Given the description of an element on the screen output the (x, y) to click on. 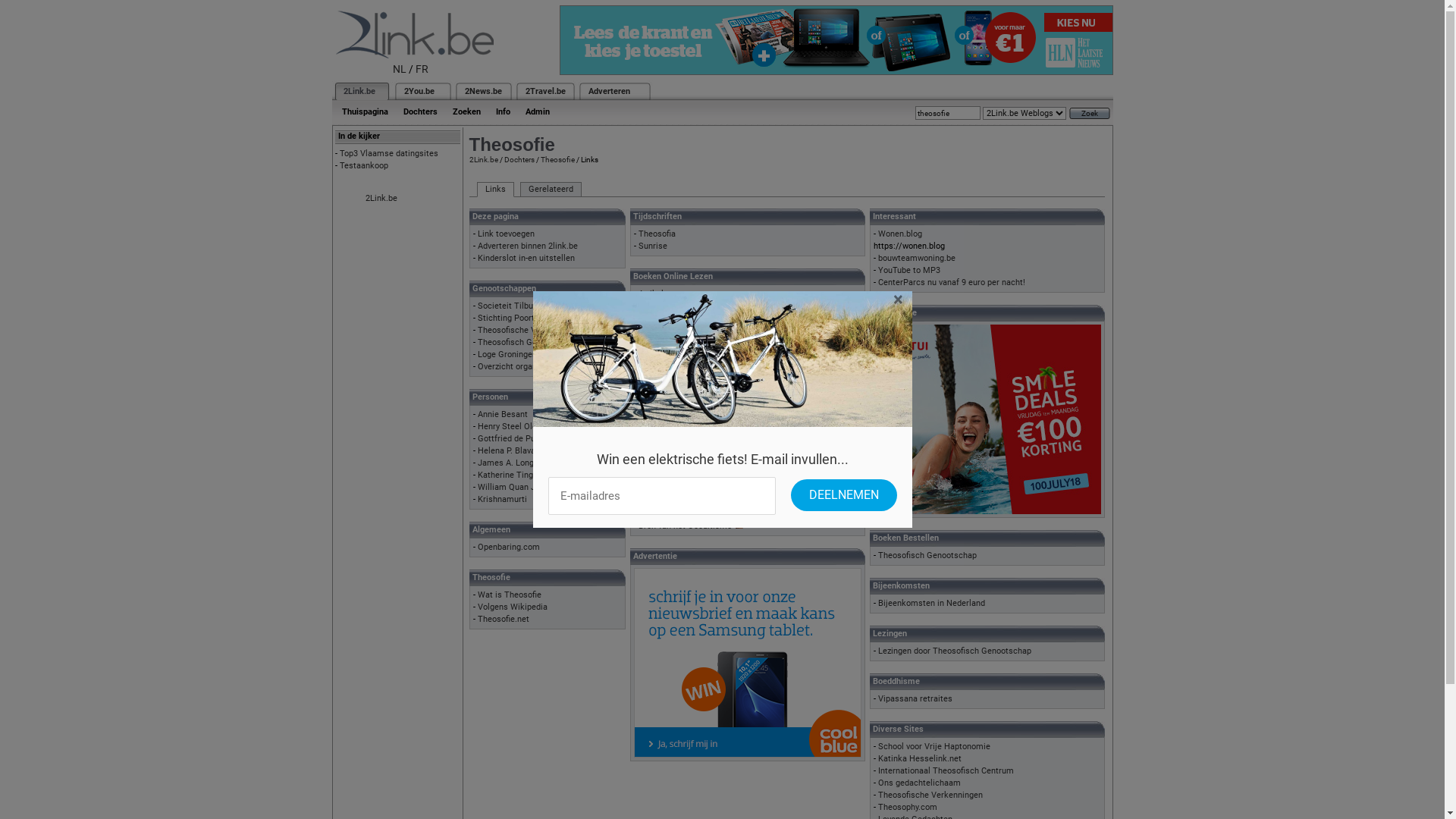
Theosofische Vereniging Element type: text (524, 330)
De Esoterische Traditie Element type: text (682, 354)
Mens, Vonk der Eeuwigheid Element type: text (689, 439)
William Quan Judge Element type: text (515, 487)
2You.be Element type: text (418, 91)
Internationaal Theosofisch Centrum Element type: text (945, 770)
Testaankoop Element type: text (363, 165)
Bron van het Occultisme Element type: text (684, 525)
De Geheime Leer Element type: text (670, 366)
De Oceaan van Theosofie Element type: text (686, 390)
Henry Steel Olcott Element type: text (512, 426)
NL Element type: text (399, 68)
Zoek Element type: text (1089, 113)
Vipassana retraites Element type: text (915, 698)
Theosofisch Genootschap Element type: text (526, 342)
Theosofie Element type: text (556, 159)
Gerelateerd Element type: text (550, 189)
Top3 Vlaamse datingsites Element type: text (388, 153)
Overzicht organisaties Element type: text (519, 366)
H.p. Blavatsky en de Spr Element type: text (684, 415)
Dochters Element type: text (518, 159)
Occulte Verhalen Element type: text (670, 451)
Licht op het Pad & Door de Gouden Poort Element type: text (715, 427)
2Link.be Element type: text (358, 91)
Theosophy.com Element type: text (907, 807)
Ons gedachtelichaam Element type: text (919, 782)
Zoeken Element type: text (465, 111)
Occulte Woordentolk Element type: text (678, 463)
YouTube to MP3 Element type: text (909, 270)
Theosofische Boeken Element type: text (678, 487)
Loge Groningen Element type: text (506, 354)
Kinderslot in-en uitstellen Element type: text (525, 258)
2Link.be Element type: text (381, 198)
2Link.be Element type: text (482, 159)
Admin Element type: text (536, 111)
Lezingen door Theosofisch Genootschap Element type: text (954, 650)
James A. Long Element type: text (505, 462)
Volgens Wikipedia Element type: text (512, 606)
Katinka Hesselink.net Element type: text (919, 758)
Helena P. Blavatsky Element type: text (514, 450)
2Travel.be Element type: text (544, 91)
FR Element type: text (421, 68)
Theosofie & Christendom Element type: text (686, 475)
Duizend lichten aansteken Element type: text (687, 402)
Gottfried de Purucker Element type: text (518, 438)
Artikelen Element type: text (655, 293)
Links Element type: text (494, 189)
Katherine Tingley Element type: text (510, 475)
Theosofia Element type: text (656, 233)
bouwteamwoning.be Element type: text (916, 258)
Stichting Poort Element type: text (505, 318)
Annie Besant Element type: text (502, 414)
Adverteren Element type: text (609, 91)
Wonen.blog Element type: text (900, 233)
Theosofisch Genootschap Element type: text (927, 555)
Sunrise Element type: text (652, 246)
School voor Vrije Haptonomie Element type: text (934, 746)
CenterParcs nu vanaf 9 euro per nacht! Element type: text (951, 282)
De Goden wachten op ons Element type: text (687, 378)
Theosofie.net Element type: text (503, 619)
Bhagavata Purana Element type: text (672, 342)
Bijeenkomsten in Nederland Element type: text (931, 603)
Societeit Tilburg Element type: text (508, 305)
Sriram Element type: text (651, 318)
Theosofische Verkenningen Element type: text (930, 795)
Ars Floreat Element type: text (659, 305)
2News.be Element type: text (482, 91)
Wat is Theosofie Element type: text (509, 594)
Beginselen van de Esoterische Filosofie Element type: text (712, 330)
Thuispagina Element type: text (364, 111)
Wind van de Geest Element type: text (673, 512)
Krishnamurti Element type: text (502, 499)
Adverteren binnen 2link.be Element type: text (527, 246)
Wat gebeurt er na de dood? Element type: text (689, 500)
Info Element type: text (502, 111)
Dochters Element type: text (420, 111)
Openbaring.com Element type: text (508, 547)
Link toevoegen Element type: text (505, 233)
